Given the description of an element on the screen output the (x, y) to click on. 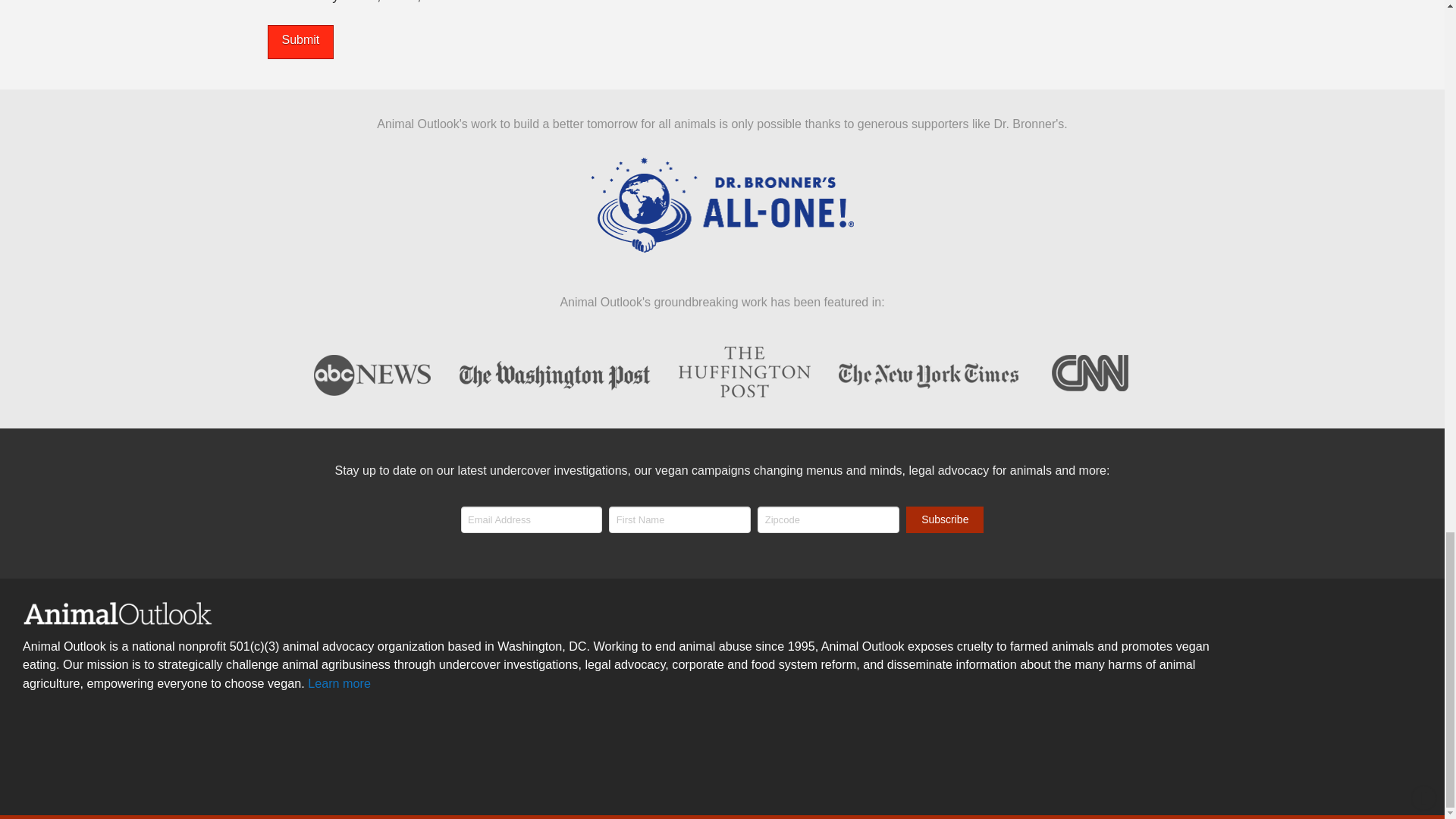
Submit (299, 41)
Subscribe (944, 519)
